Given the description of an element on the screen output the (x, y) to click on. 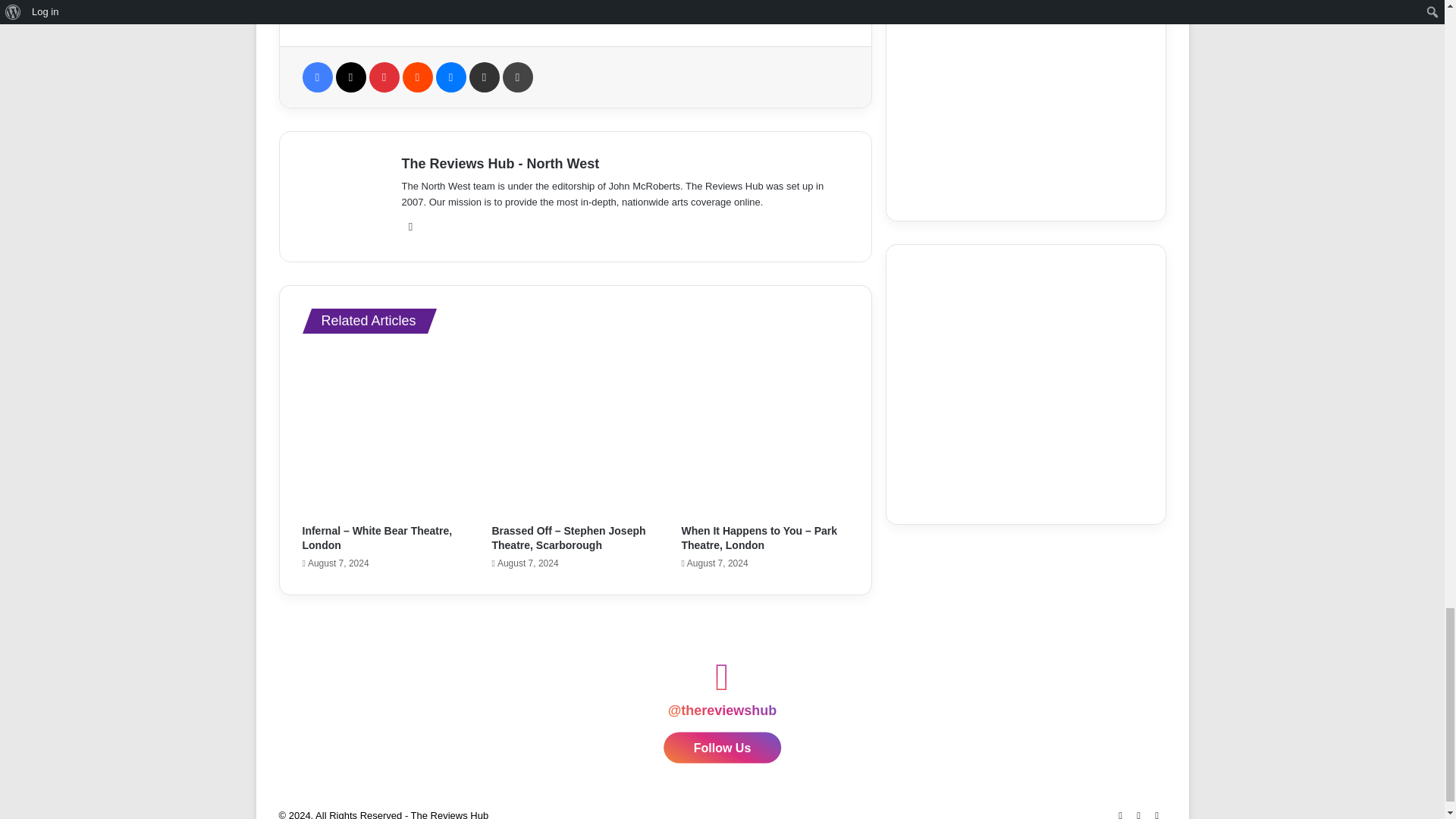
Pinterest (383, 77)
Reddit (416, 77)
Facebook (316, 77)
X (349, 77)
Messenger (450, 77)
Share via Email (483, 77)
